Given the description of an element on the screen output the (x, y) to click on. 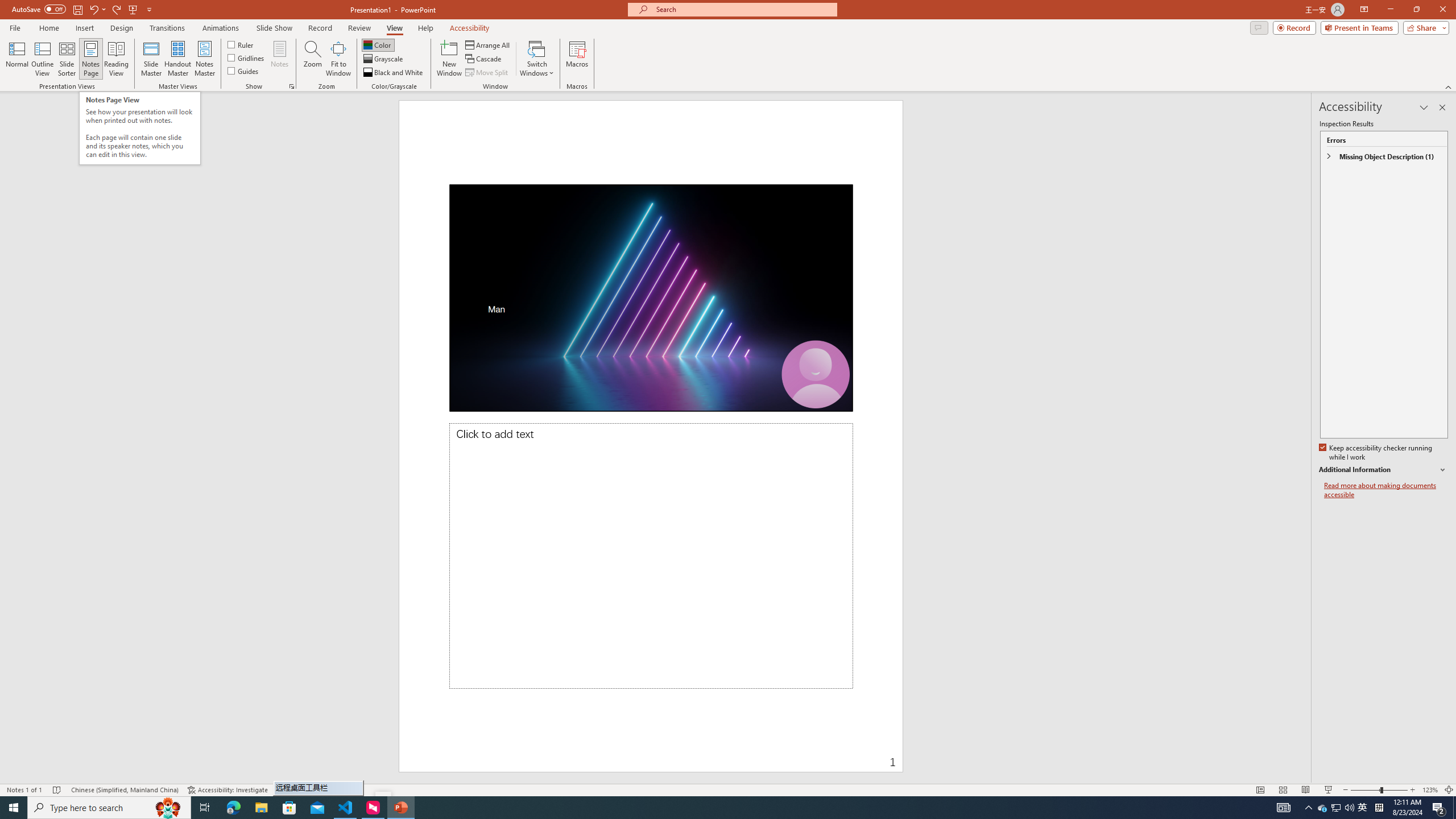
Cascade (484, 58)
Grid Settings... (291, 85)
Fit to Window (338, 58)
